Given the description of an element on the screen output the (x, y) to click on. 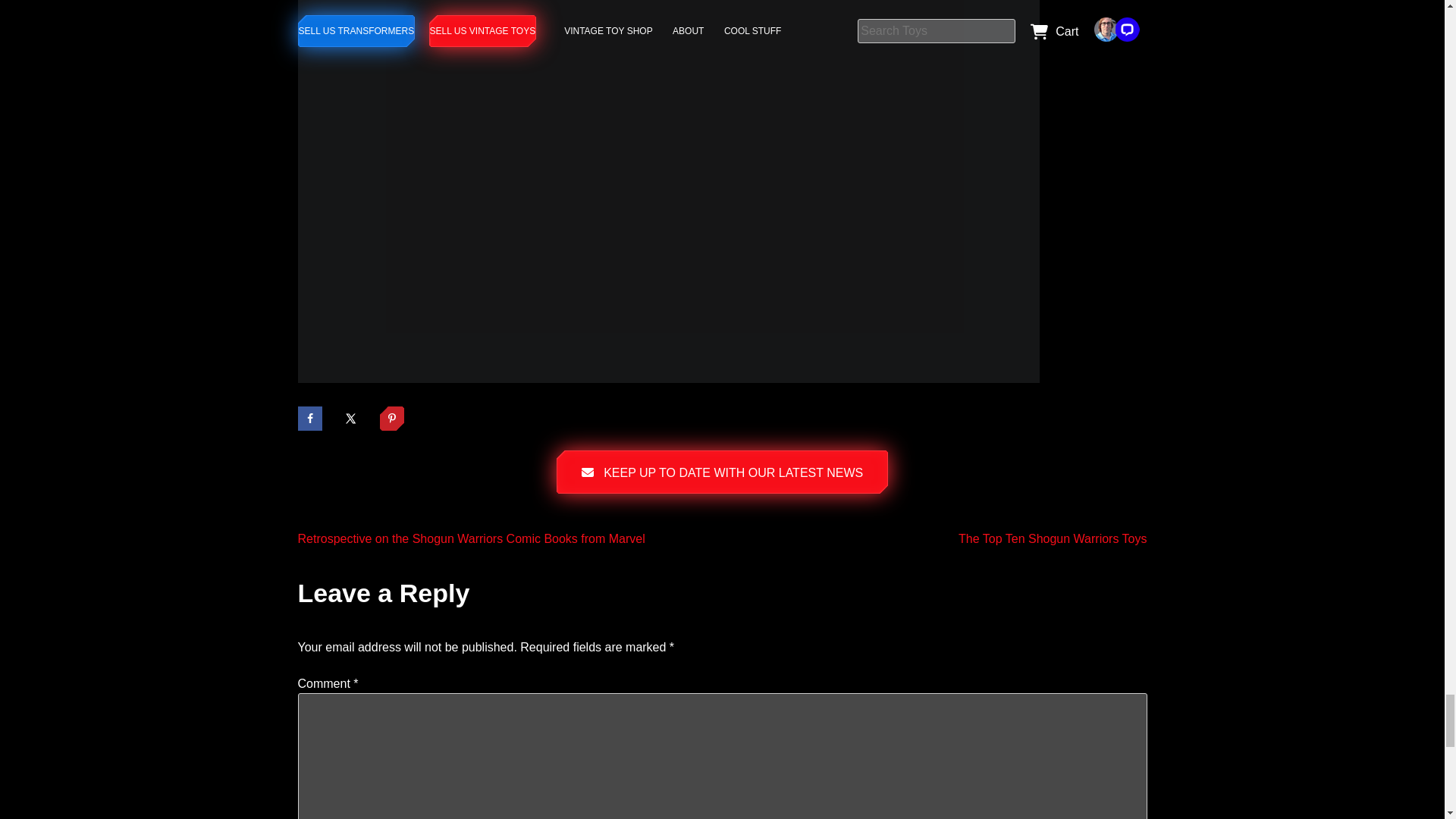
Share on X (350, 418)
Save to Pinterest (392, 418)
Share on Facebook (309, 418)
